Given the description of an element on the screen output the (x, y) to click on. 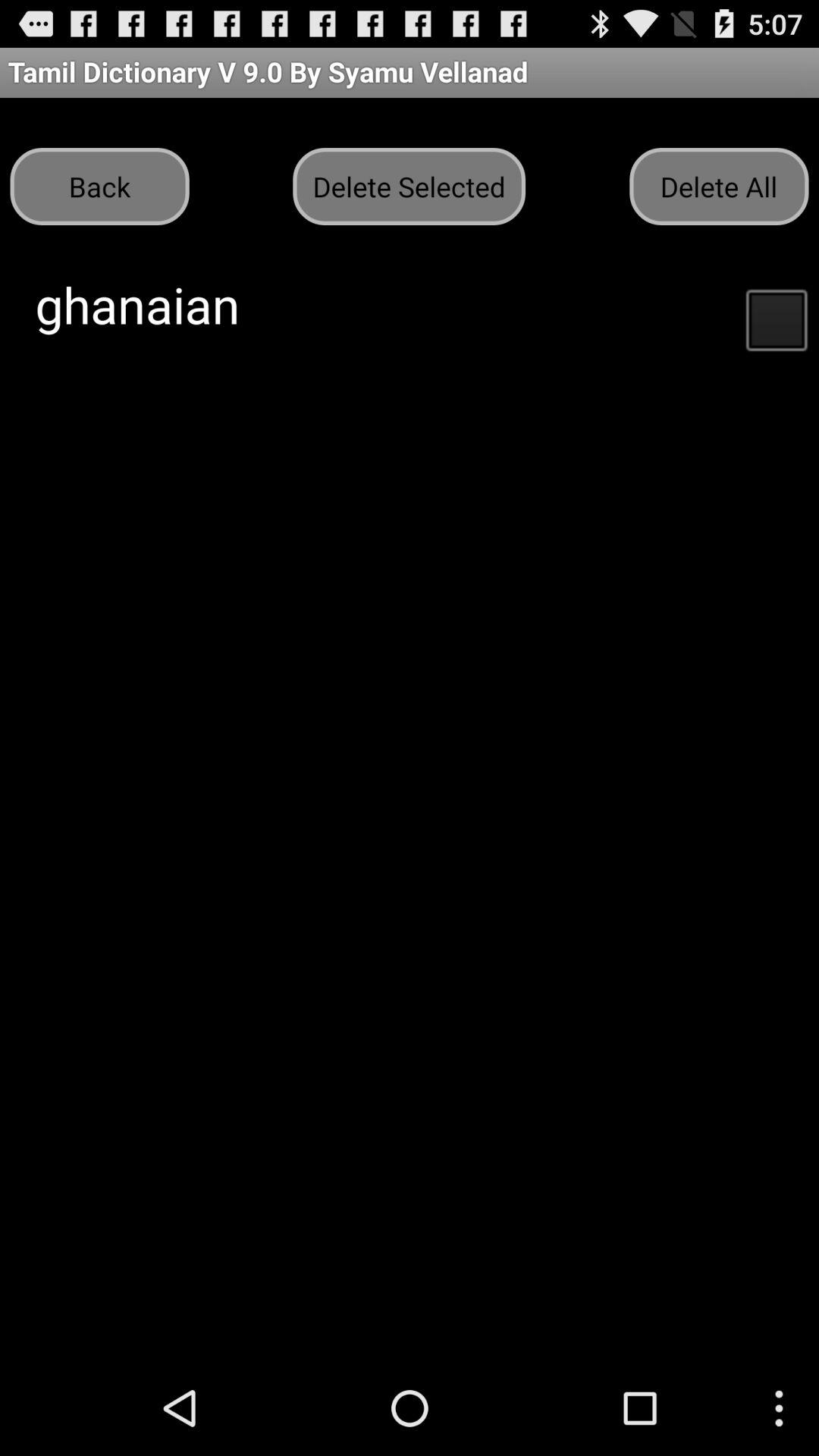
choose the icon to the right of ghanaian icon (775, 318)
